Given the description of an element on the screen output the (x, y) to click on. 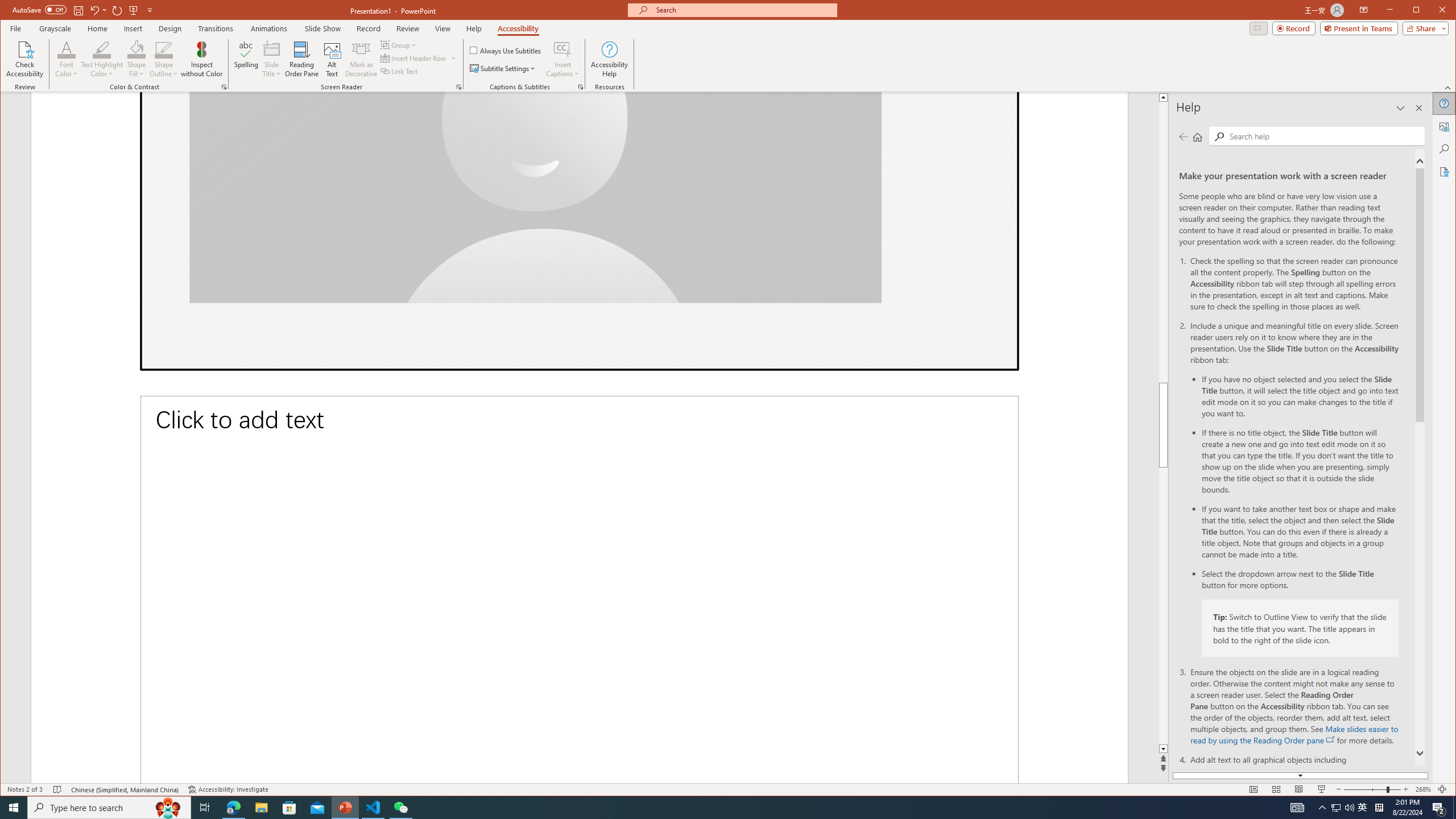
Accessibility Help (608, 59)
